Given the description of an element on the screen output the (x, y) to click on. 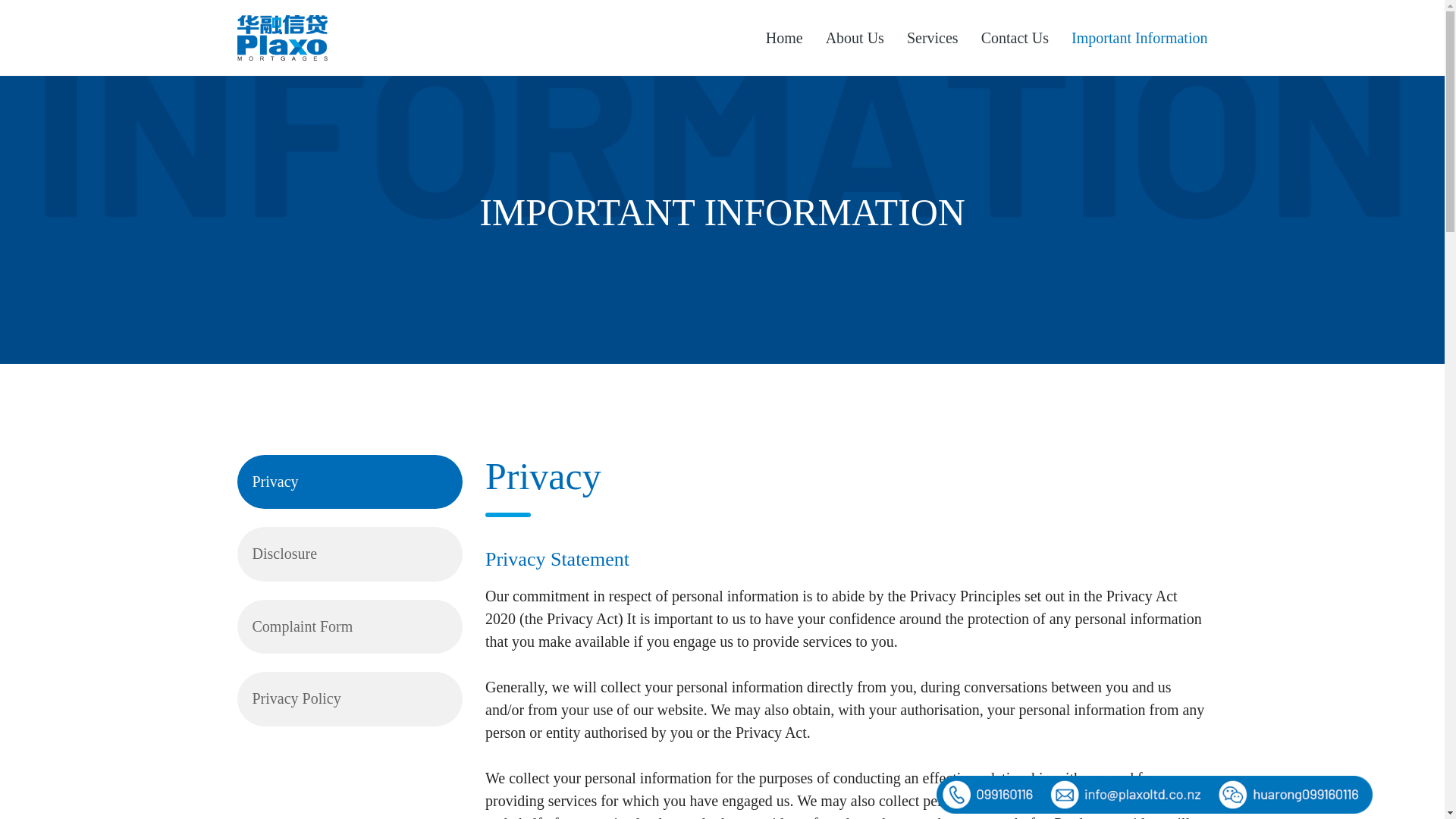
About Us (854, 37)
Complaint Form (349, 626)
Contact Us (1014, 37)
Services (932, 37)
Privacy (349, 481)
Home (783, 37)
Disclosure (349, 553)
Privacy Policy (349, 698)
Important Information (1133, 37)
